Given the description of an element on the screen output the (x, y) to click on. 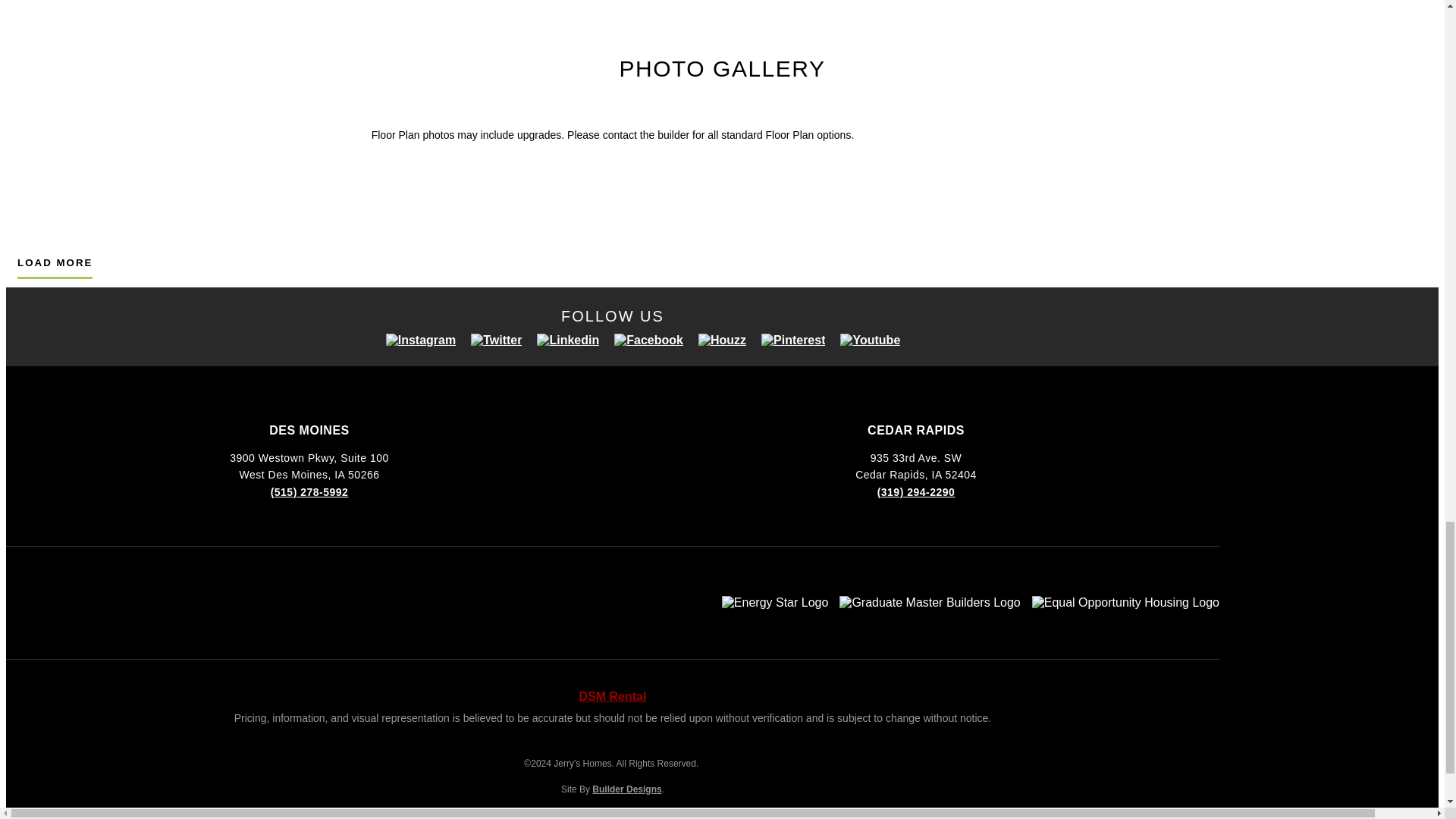
LOAD MORE (55, 268)
Builder Designs (626, 788)
DSM Rental (612, 696)
